Given the description of an element on the screen output the (x, y) to click on. 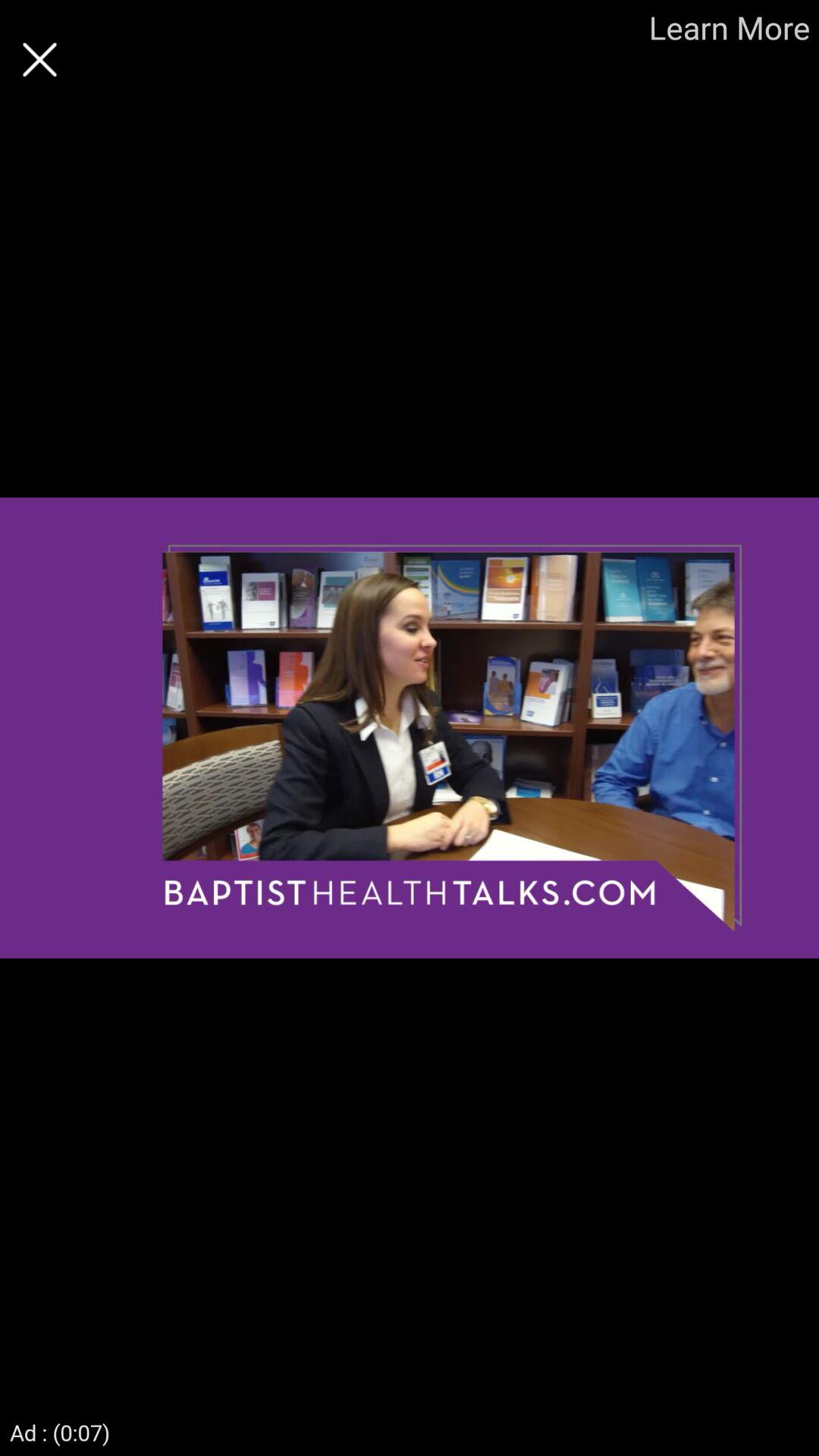
click to close tab (39, 59)
